Given the description of an element on the screen output the (x, y) to click on. 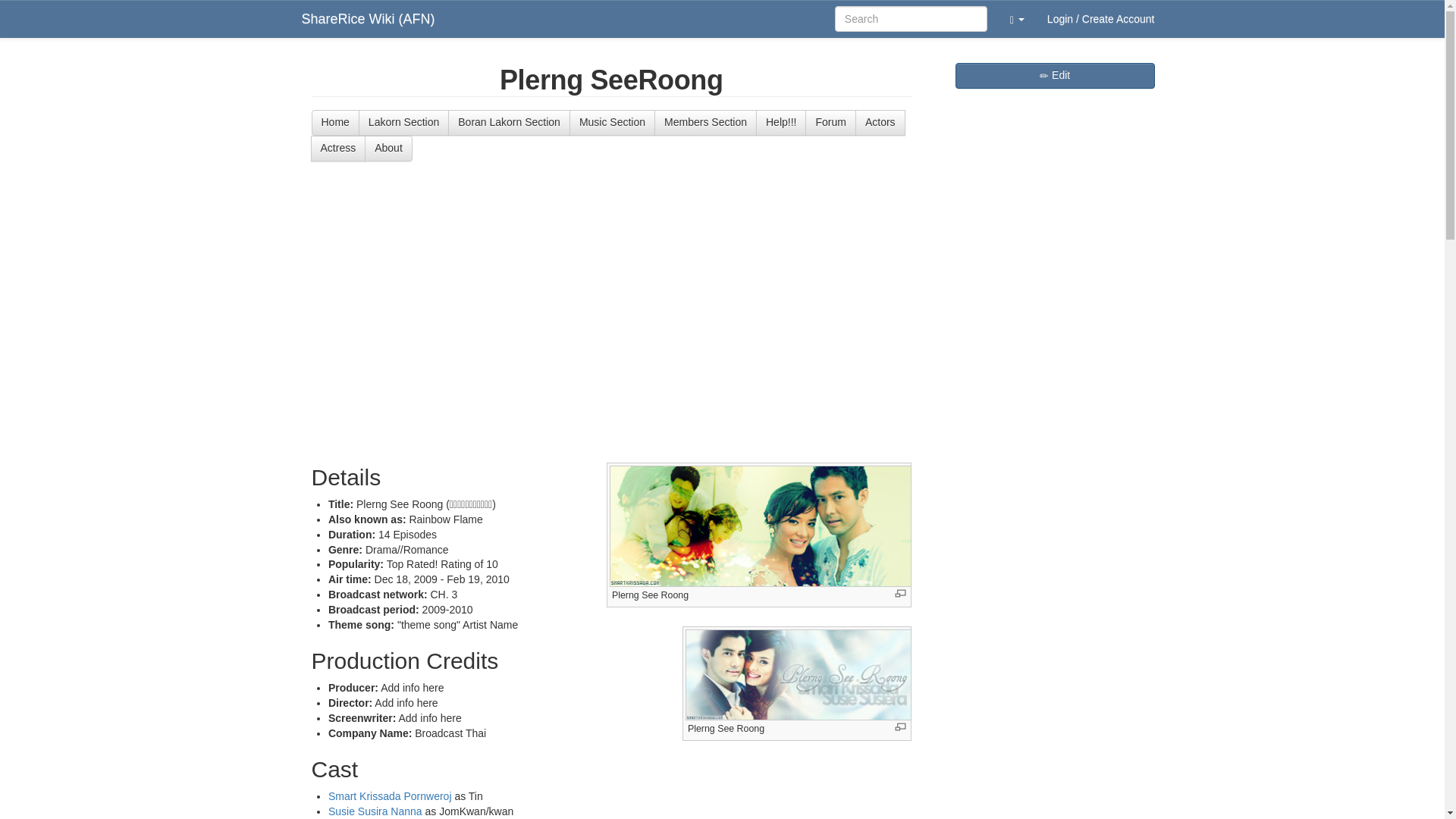
Members Section (705, 122)
Lakorn Section (403, 122)
About (388, 148)
Help!!! (780, 122)
Susie Susira Nanna (375, 811)
Smart Krissada Pornweroj (390, 796)
Forum (830, 122)
Actors (880, 122)
Smart Krissada Pornweroj (390, 796)
Boran Lakorn Section (509, 122)
Enlarge (900, 592)
Enlarge (900, 726)
Actress (338, 148)
Home (334, 122)
Music Section (612, 122)
